Given the description of an element on the screen output the (x, y) to click on. 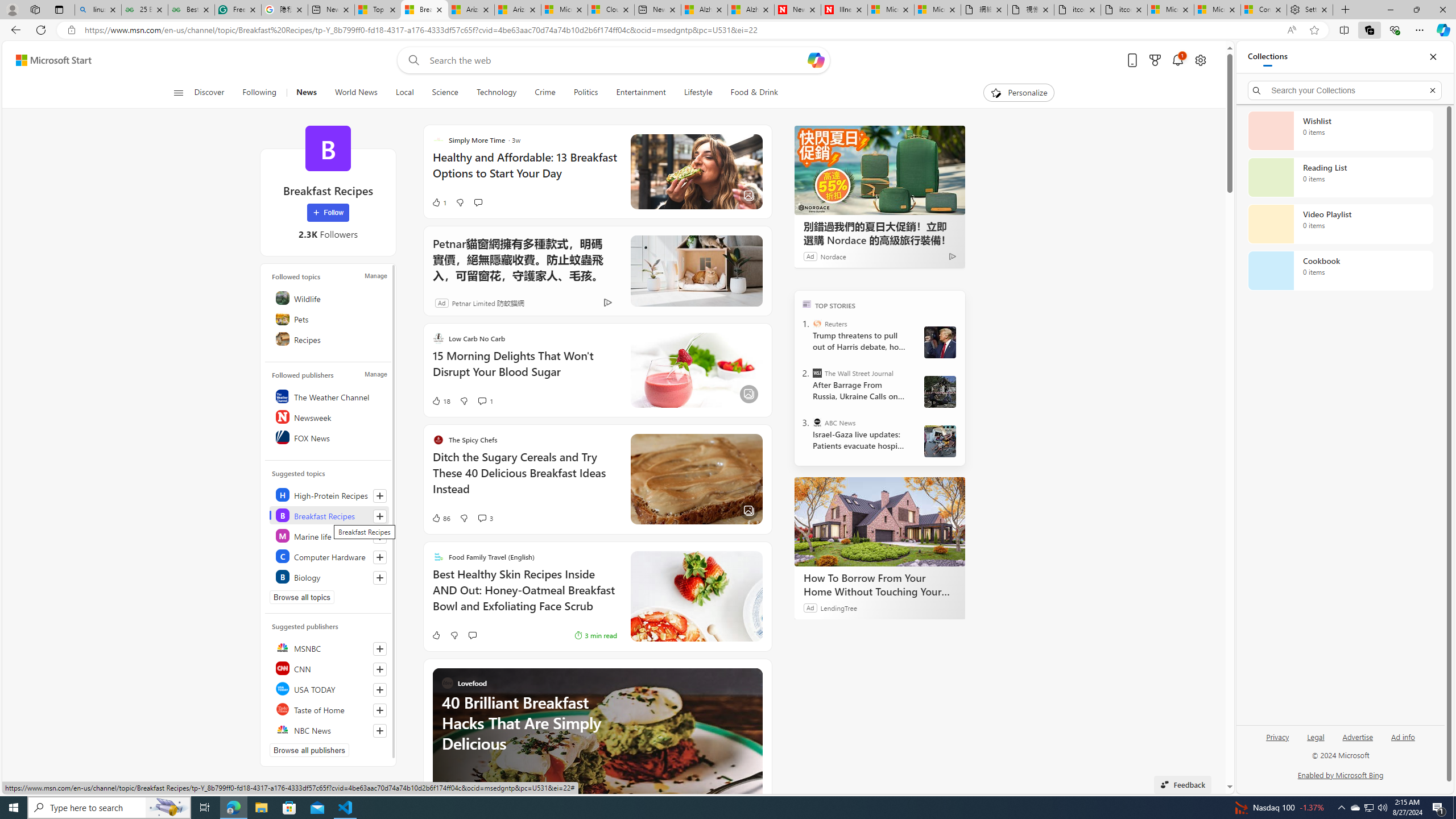
Like (435, 635)
Exit search (1432, 90)
Wildlife (328, 298)
15 Morning Delights That Won't Disrupt Your Blood Sugar (524, 369)
Free AI Writing Assistance for Students | Grammarly (237, 9)
Lifestyle (698, 92)
18 Like (440, 400)
Follow this source (379, 730)
